Given the description of an element on the screen output the (x, y) to click on. 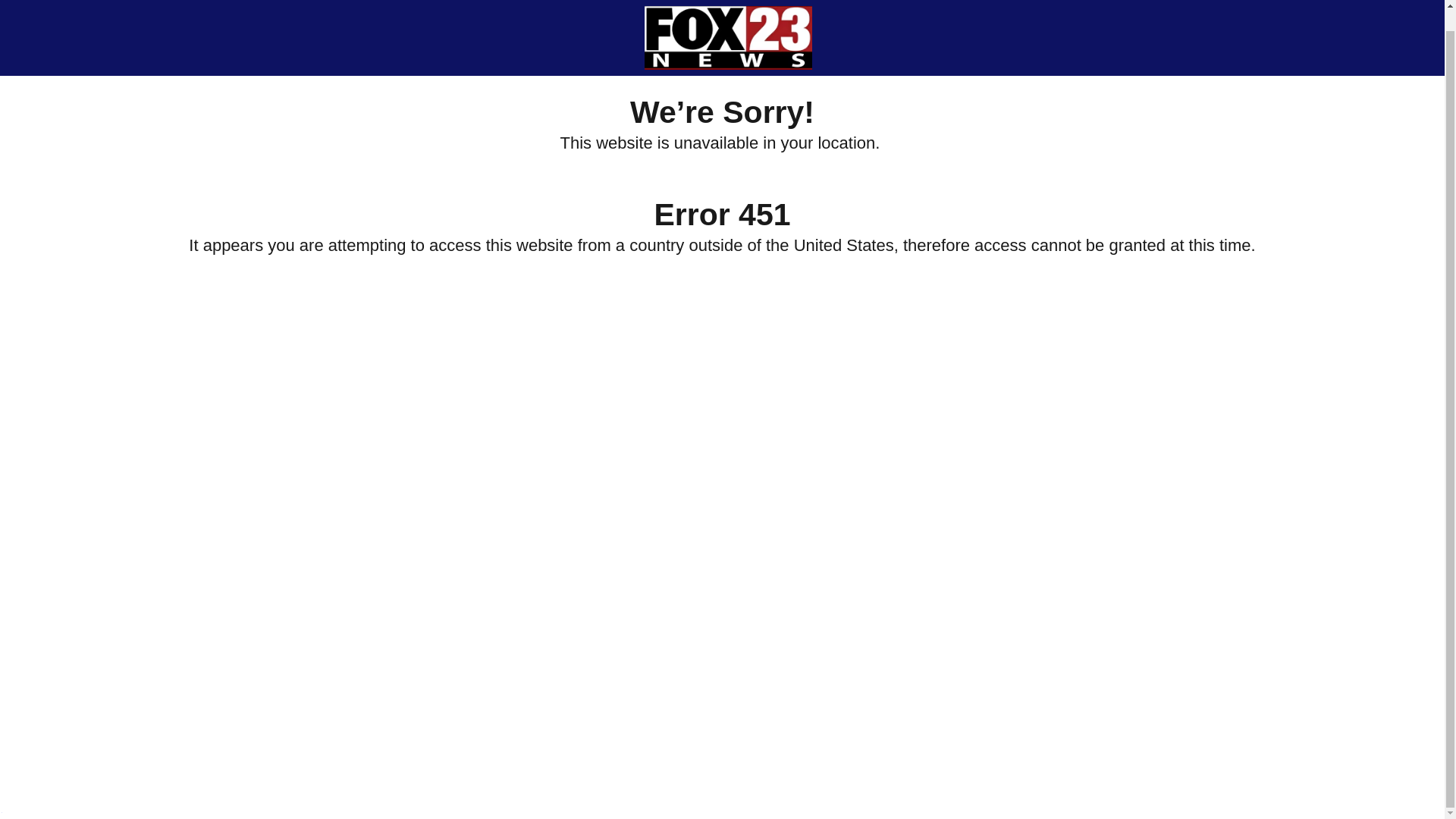
FOX23 News Logo (727, 24)
